Given the description of an element on the screen output the (x, y) to click on. 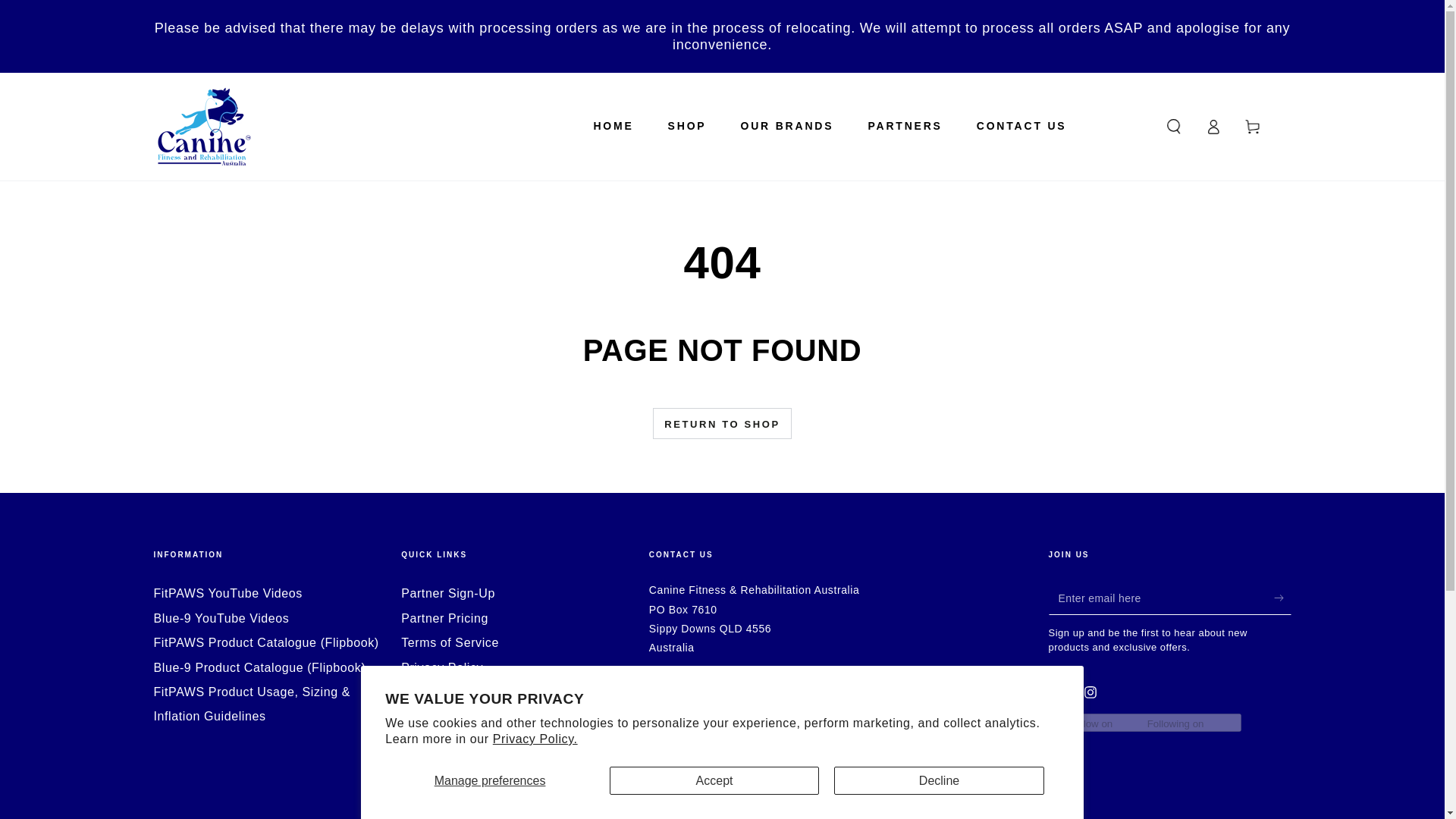
Manage preferences (489, 780)
Accept (714, 780)
HOME (612, 125)
SKIP TO CONTENT (67, 14)
SHOP (686, 125)
OUR BRANDS (787, 125)
Privacy Policy. (535, 738)
Decline (938, 780)
